Given the description of an element on the screen output the (x, y) to click on. 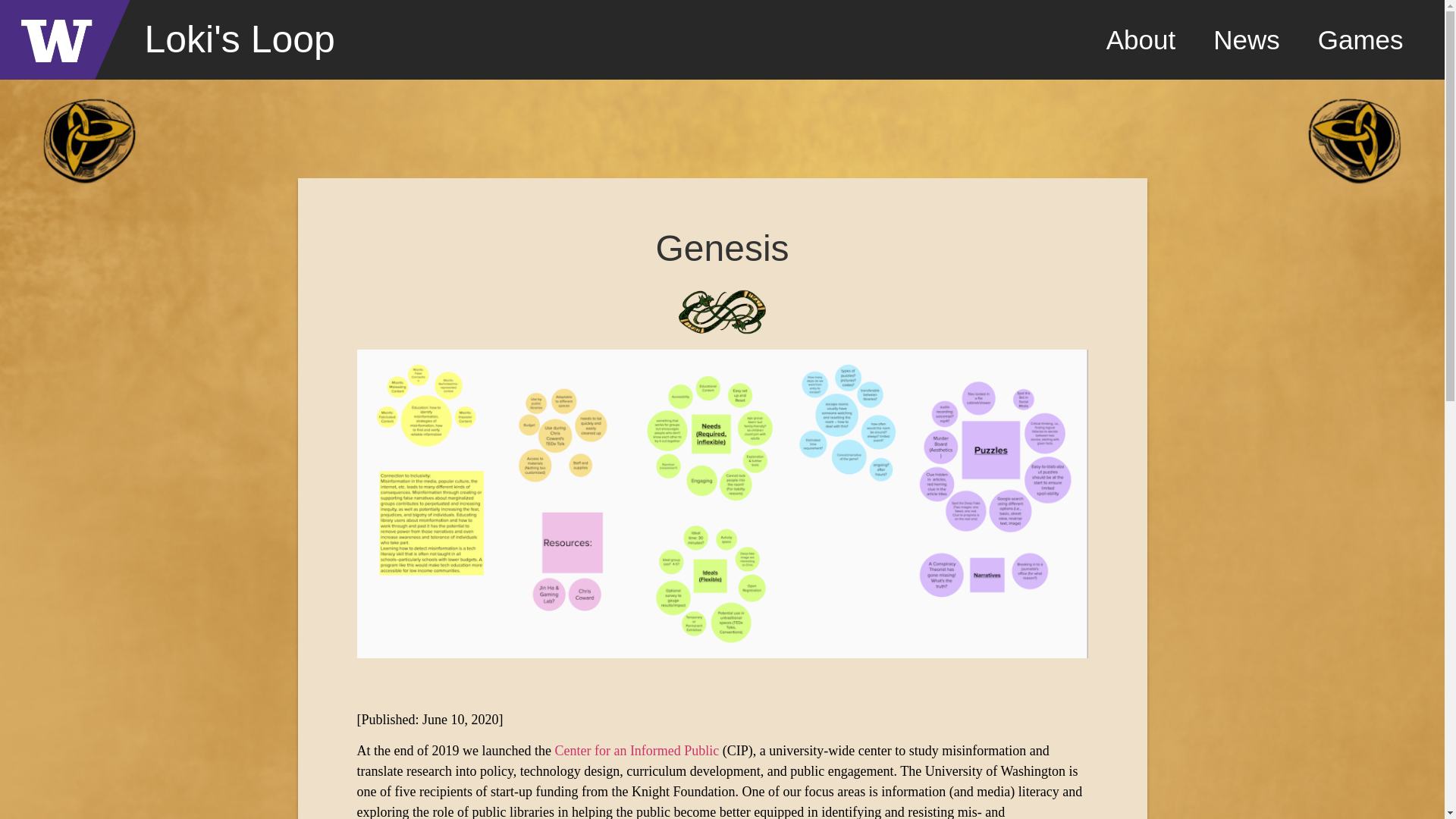
Games (1360, 39)
Center for an Informed Public (636, 750)
Loki'S Loop (239, 39)
About (1140, 39)
News (1245, 39)
